Given the description of an element on the screen output the (x, y) to click on. 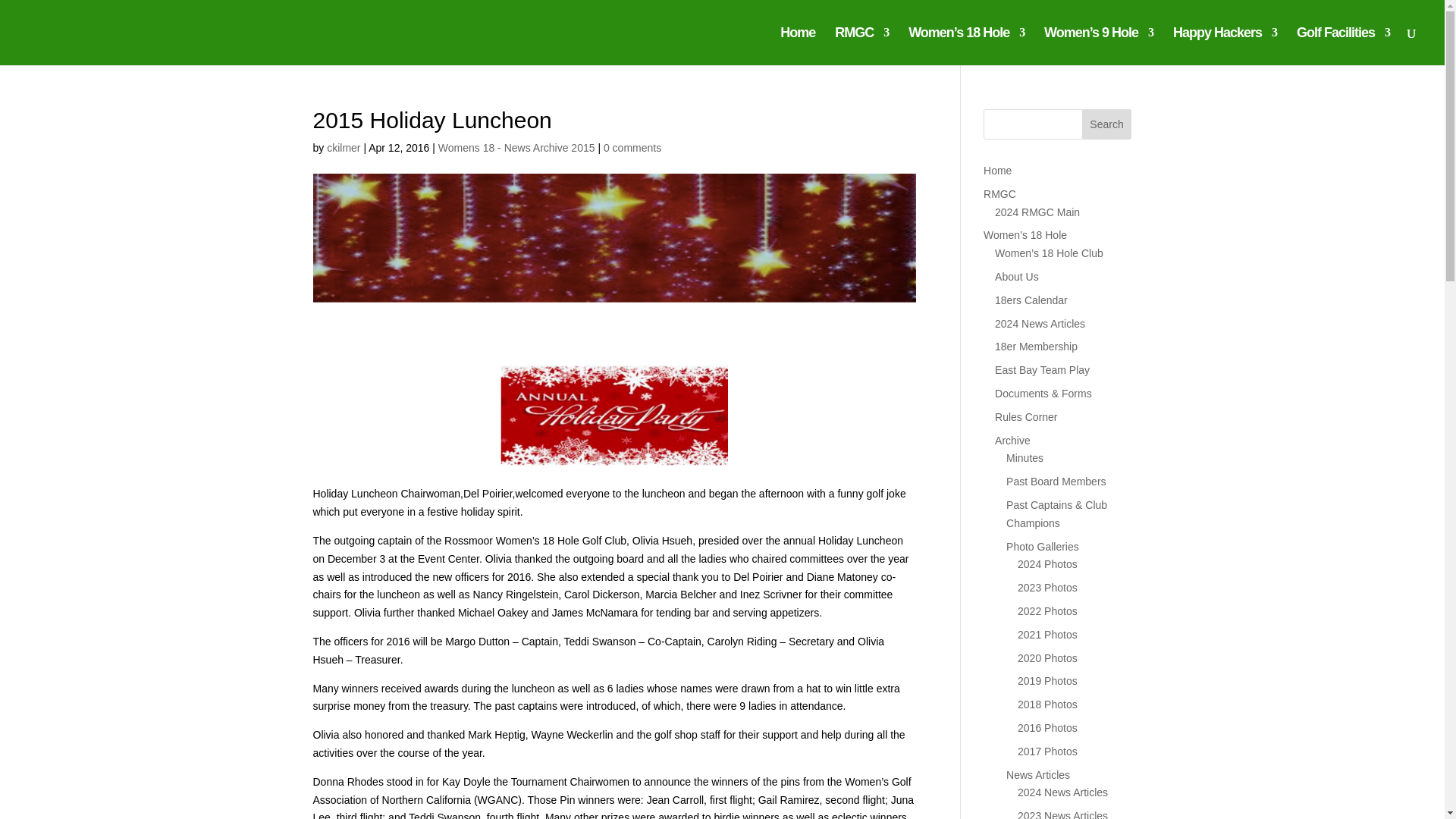
Search (1106, 123)
RMGC (861, 46)
Home (797, 46)
Posts by ckilmer (342, 147)
